Given the description of an element on the screen output the (x, y) to click on. 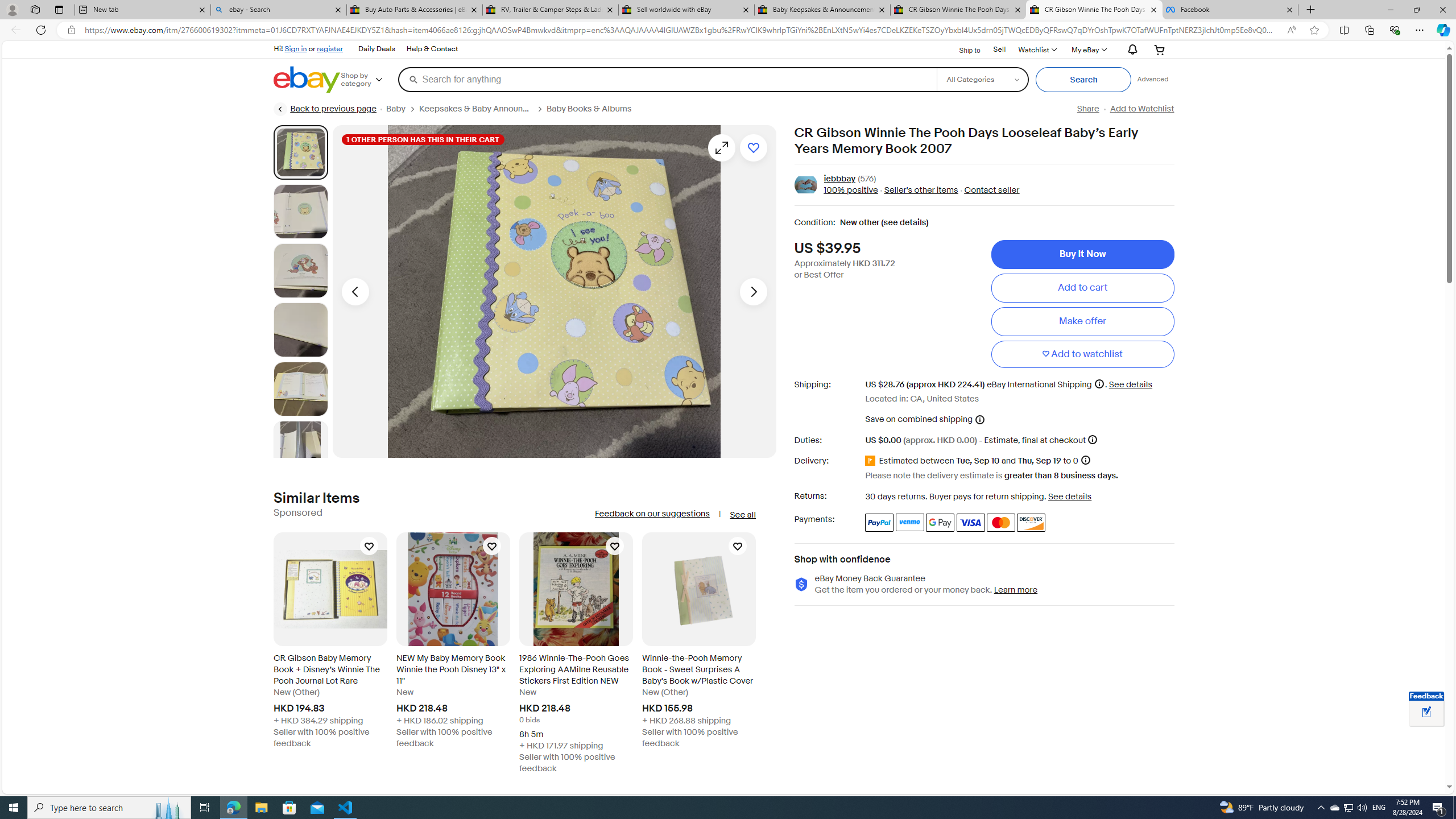
More information on Combined Shipping. Opens a layer. (979, 419)
Ship to (962, 50)
Delivery alert flag (871, 460)
